Given the description of an element on the screen output the (x, y) to click on. 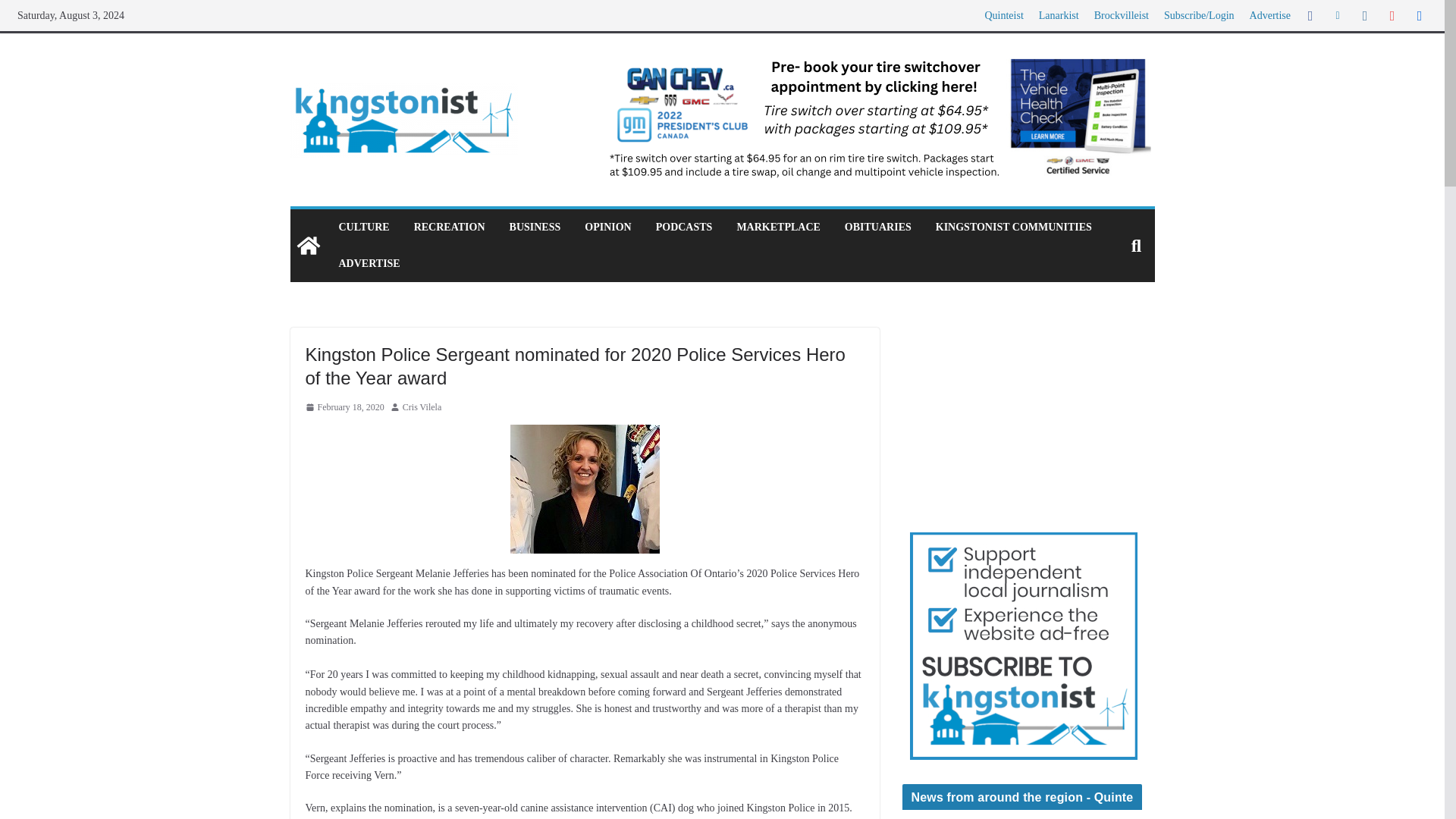
Cris Vilela (422, 407)
Advertise (1269, 15)
CULTURE (362, 227)
PODCASTS (684, 227)
KINGSTONIST COMMUNITIES (1014, 227)
RECREATION (448, 227)
OPINION (607, 227)
February 18, 2020 (344, 407)
Quinteist (1003, 15)
Brockvilleist (1121, 15)
ADVERTISE (367, 263)
BUSINESS (534, 227)
MARKETPLACE (777, 227)
OBITUARIES (877, 227)
9:10 pm (344, 407)
